Given the description of an element on the screen output the (x, y) to click on. 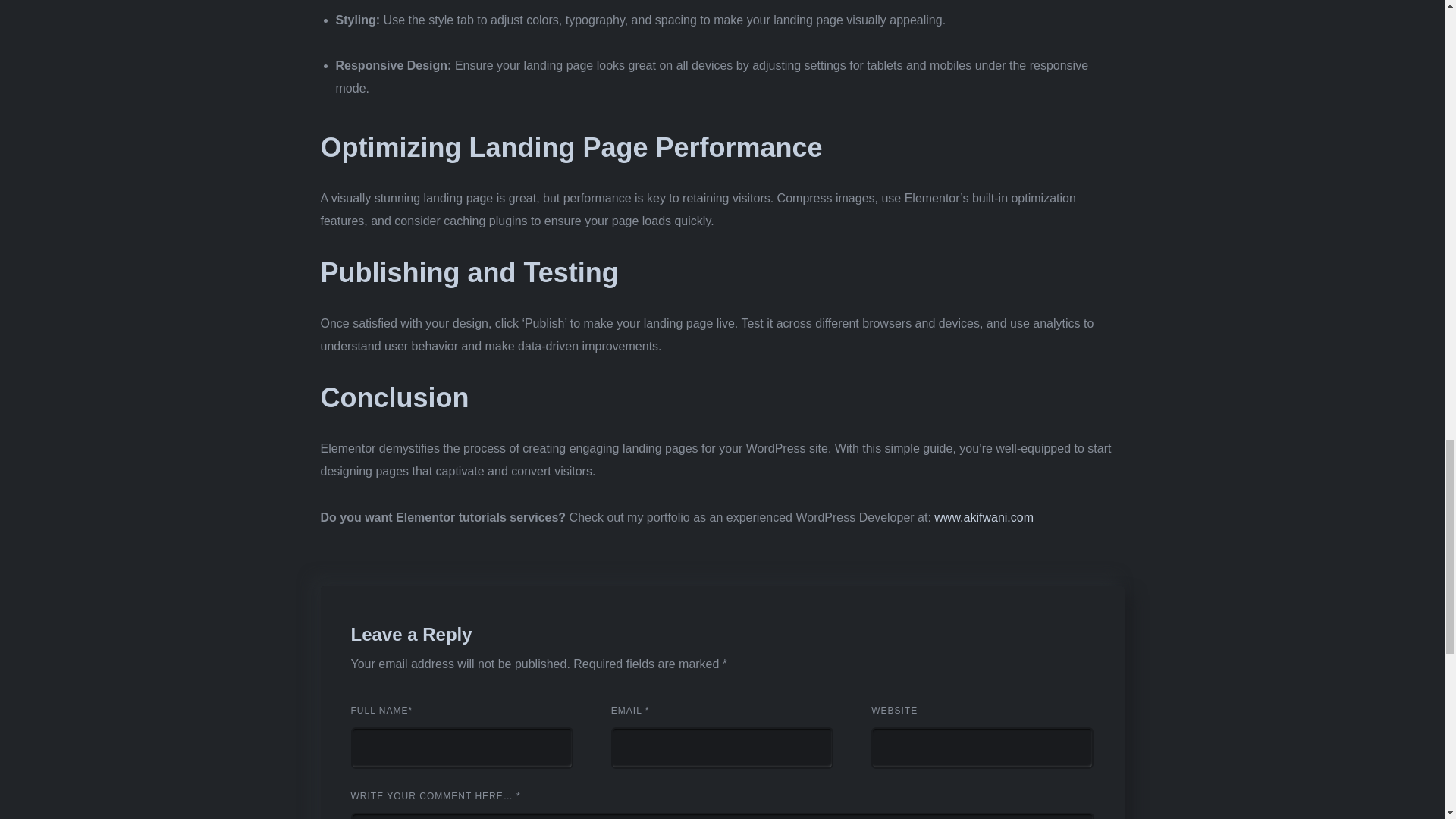
www.akifwani.com (983, 517)
